Given the description of an element on the screen output the (x, y) to click on. 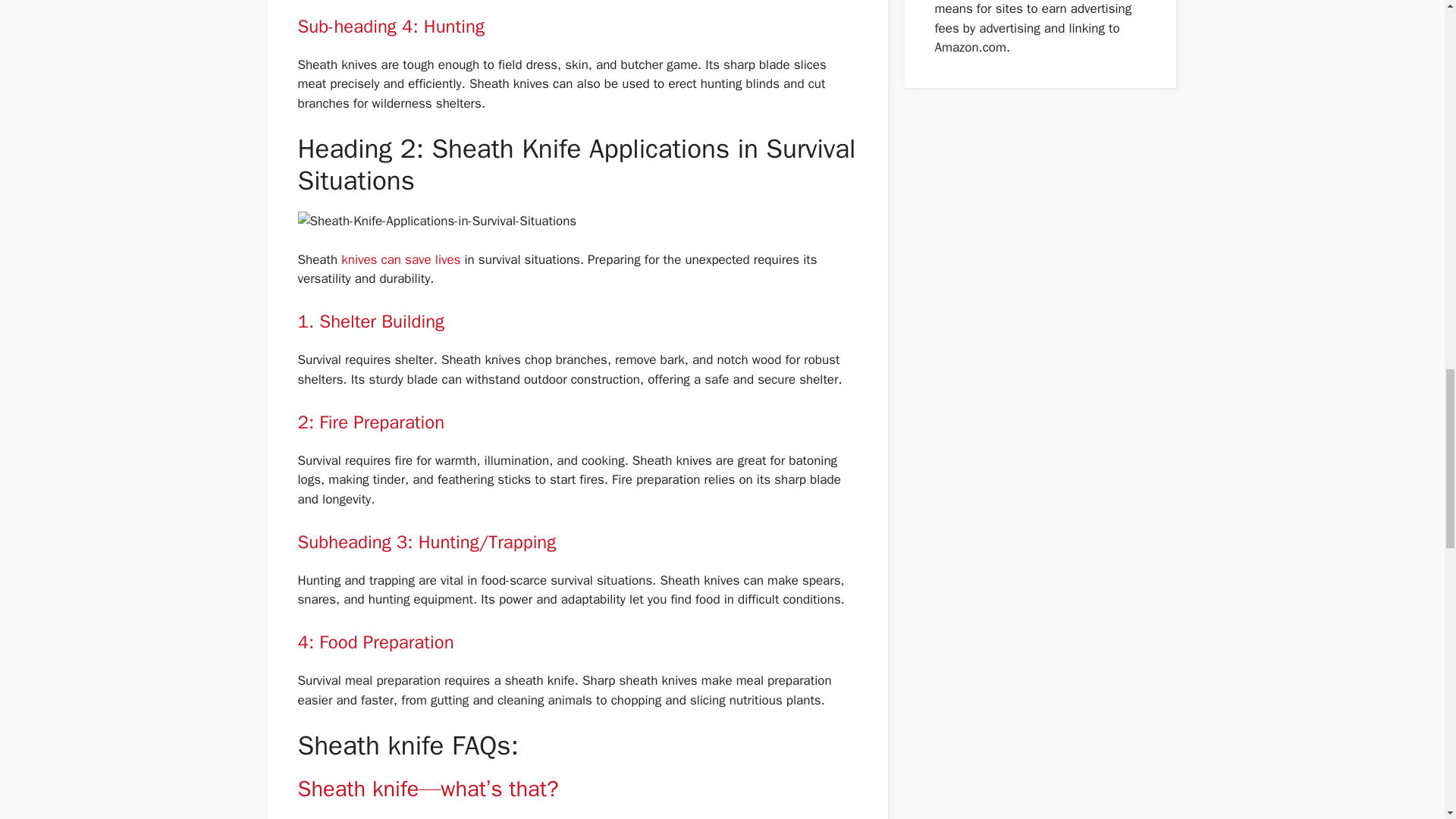
knives can save lives (402, 259)
